Given the description of an element on the screen output the (x, y) to click on. 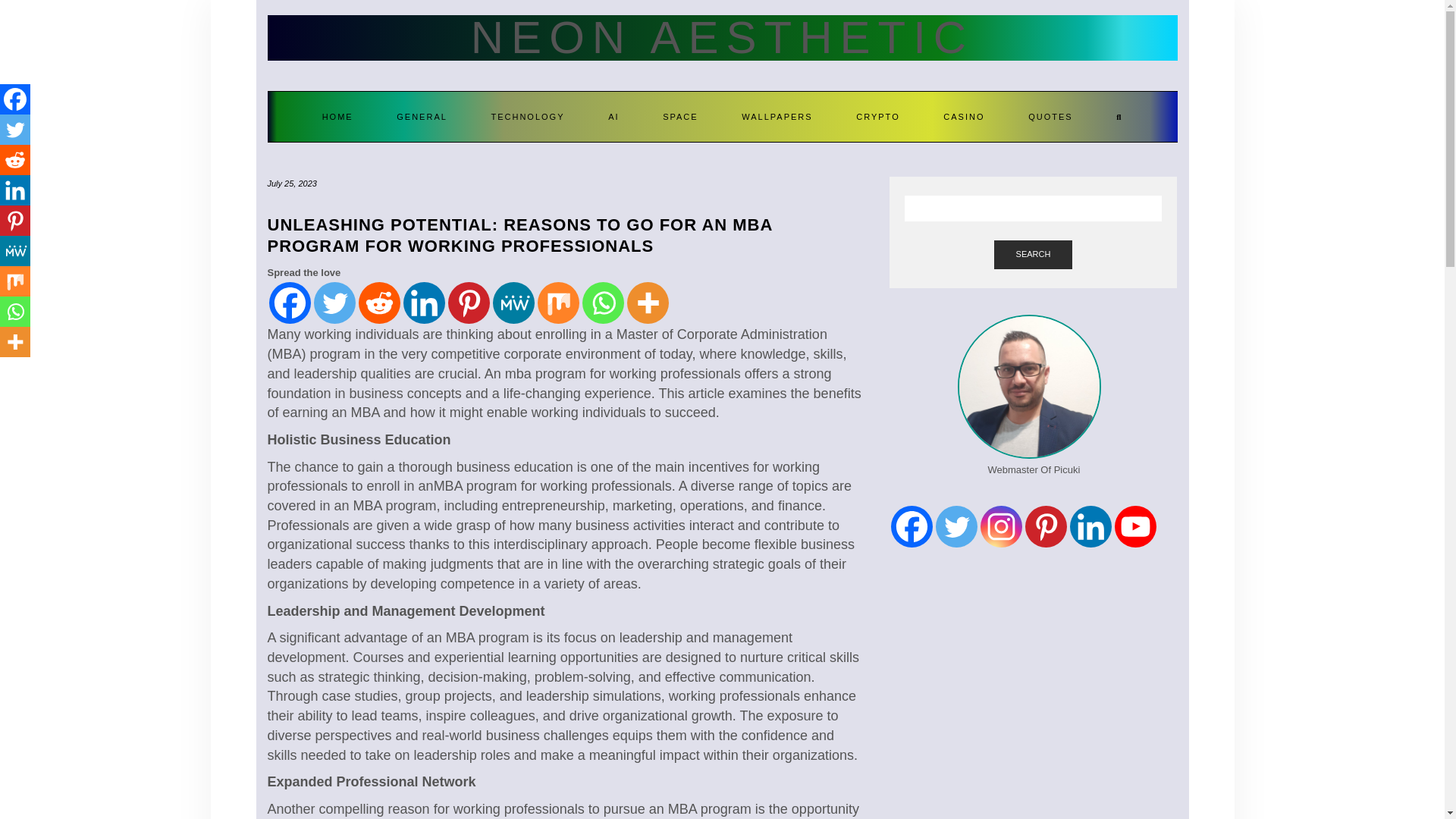
Mix (557, 302)
Linkedin (15, 190)
Reddit (15, 159)
Twitter (334, 302)
MeWe (513, 302)
Reddit (378, 302)
WALLPAPERS (776, 116)
Facebook (15, 99)
Twitter (15, 129)
SPACE (679, 116)
Pinterest (467, 302)
More (647, 302)
QUOTES (1050, 116)
Facebook (288, 302)
NEON AESTHETIC (722, 37)
